Given the description of an element on the screen output the (x, y) to click on. 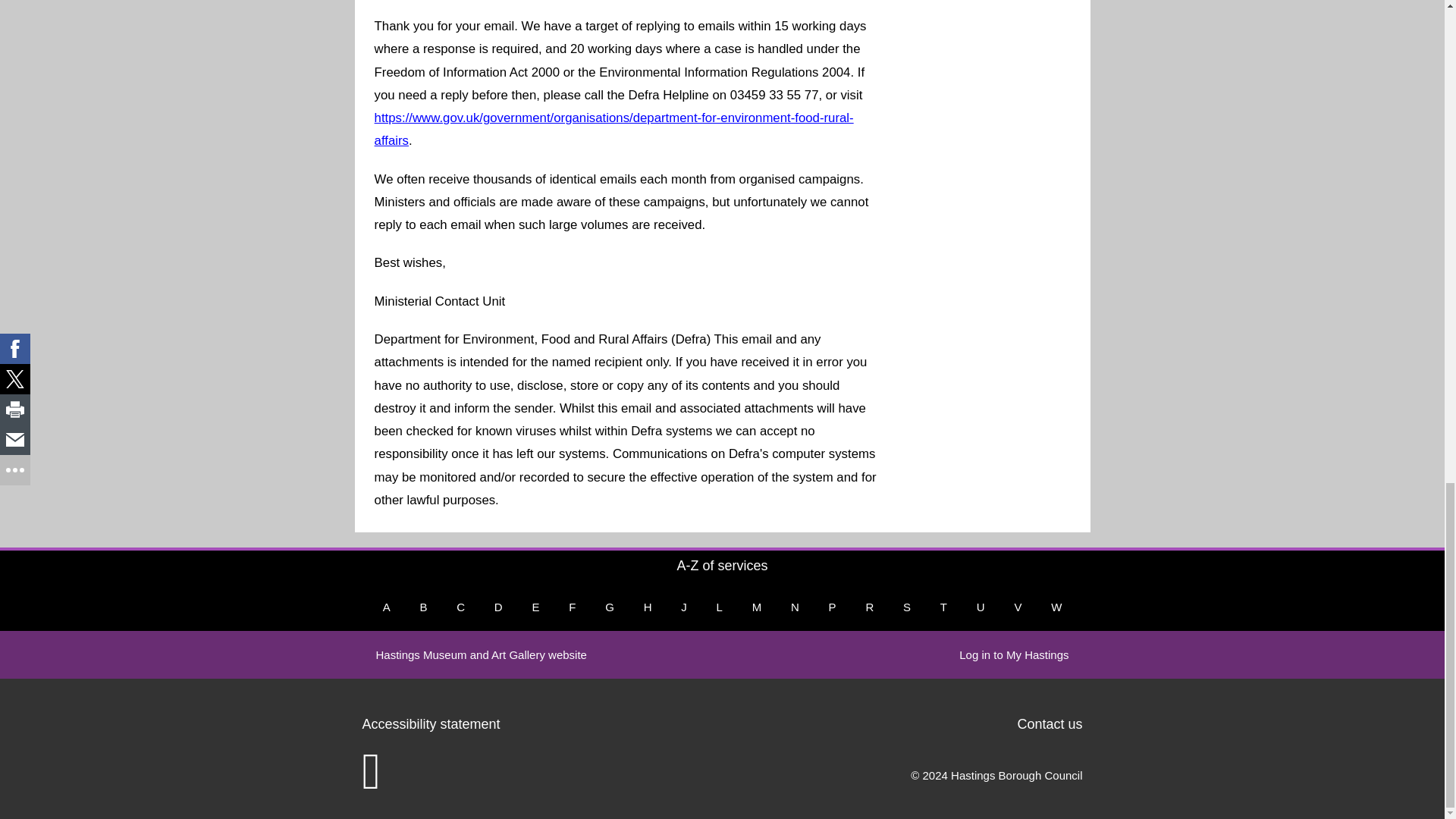
G (609, 607)
M (757, 607)
